Given the description of an element on the screen output the (x, y) to click on. 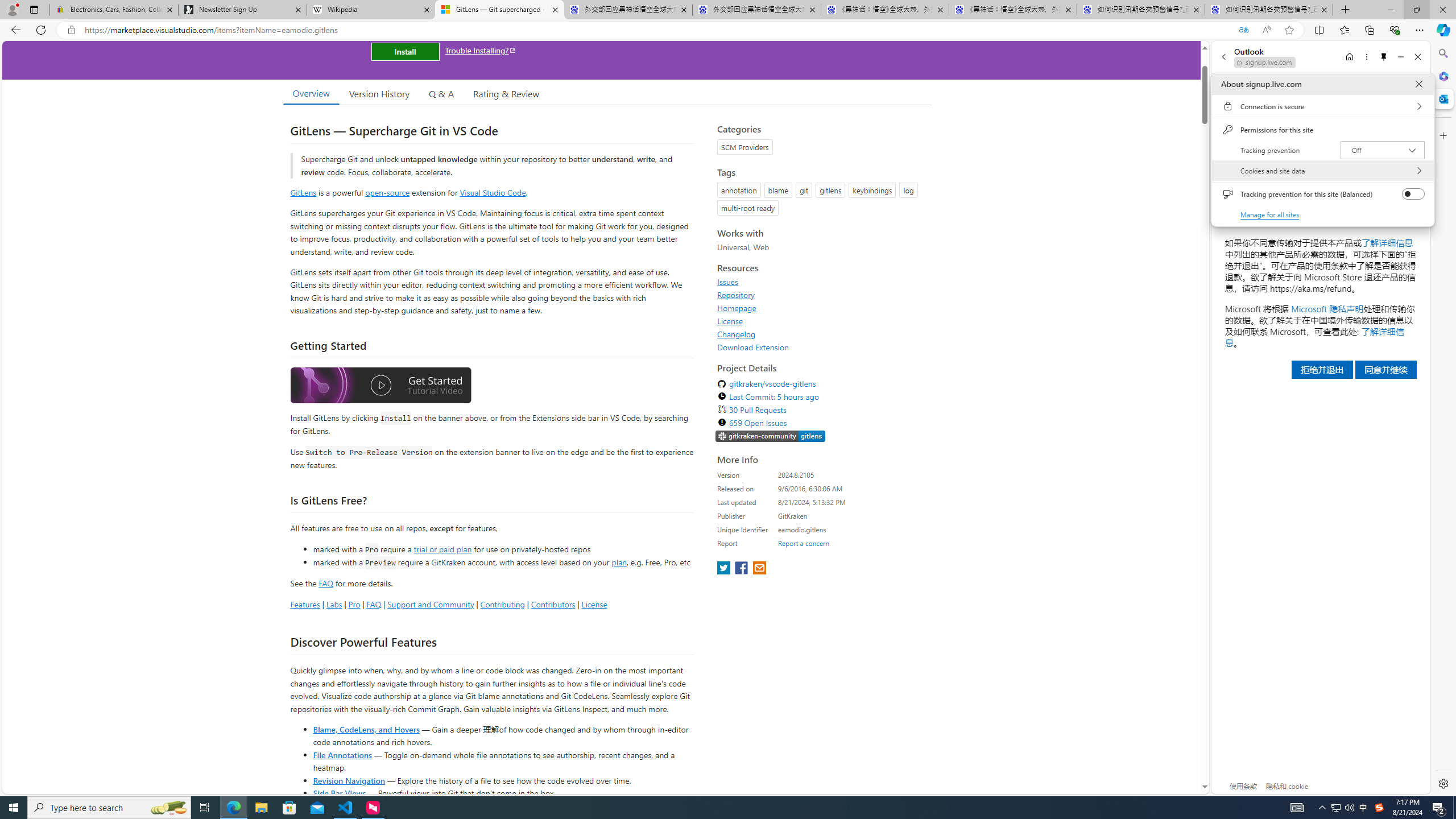
Microsoft Edge - 1 running window (233, 807)
Running applications (707, 807)
Show desktop (1454, 807)
Q2790: 100% (1349, 807)
Connection is secure (1322, 105)
Start (13, 807)
Permissions for this site (1322, 129)
Action Center, 2 new notifications (1439, 807)
About signup.live.com (1418, 83)
File Explorer (261, 807)
Tracking prevention Off (1382, 149)
Tracking prevention for this site (Balanced) (1413, 193)
